Given the description of an element on the screen output the (x, y) to click on. 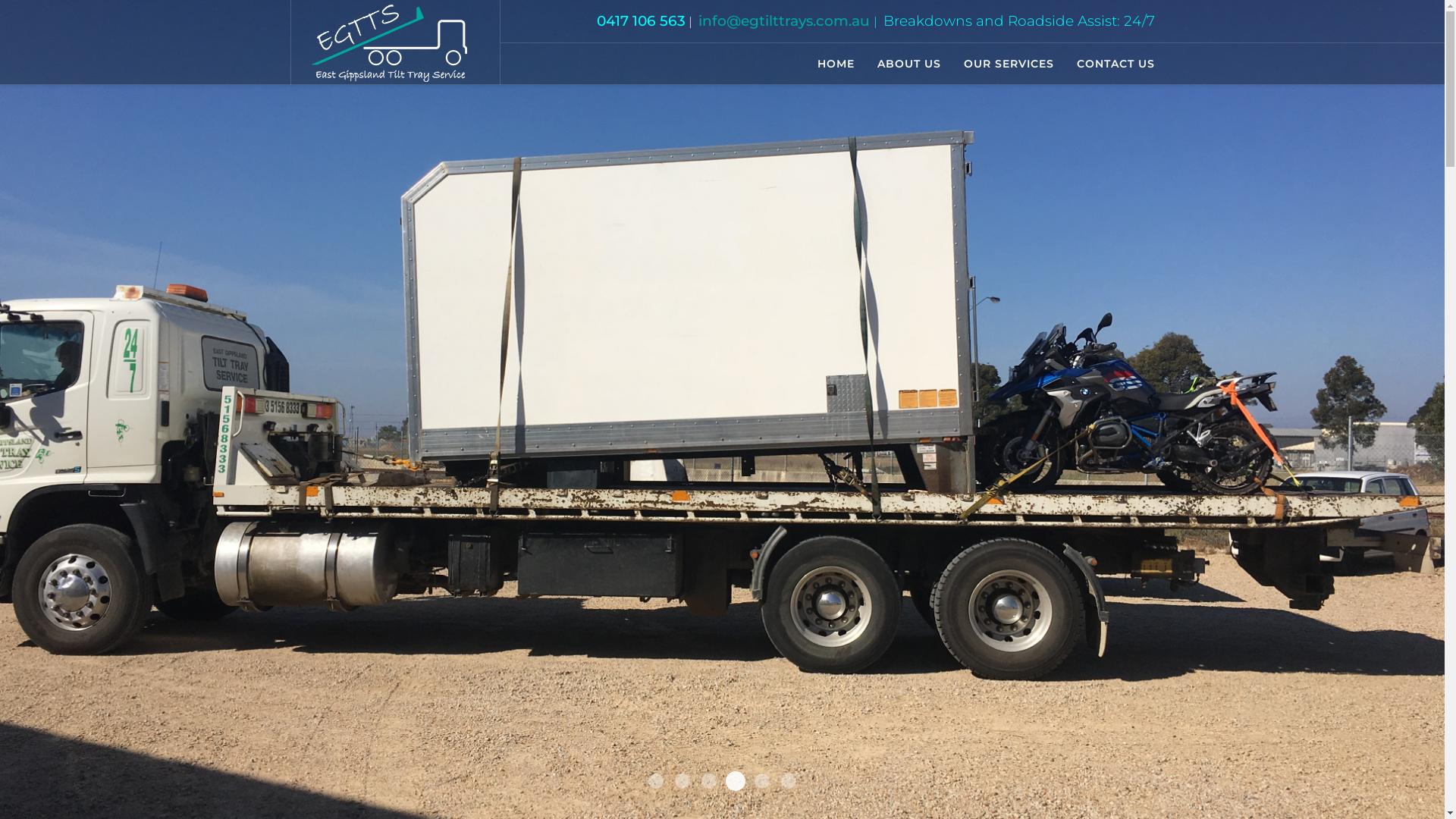
Slider2 Element type: text (682, 780)
HOME Element type: text (835, 63)
info@egtilttrays.com.au Element type: text (783, 20)
Slider4 Element type: text (732, 778)
CONTACT US Element type: text (1109, 63)
Slider5 Element type: text (761, 780)
Slider3 Element type: text (708, 780)
Slider1 Element type: text (655, 780)
Slider6 Element type: text (788, 780)
0417 106 563 Element type: text (640, 20)
OUR SERVICES Element type: text (1008, 63)
ABOUT US Element type: text (909, 63)
